Given the description of an element on the screen output the (x, y) to click on. 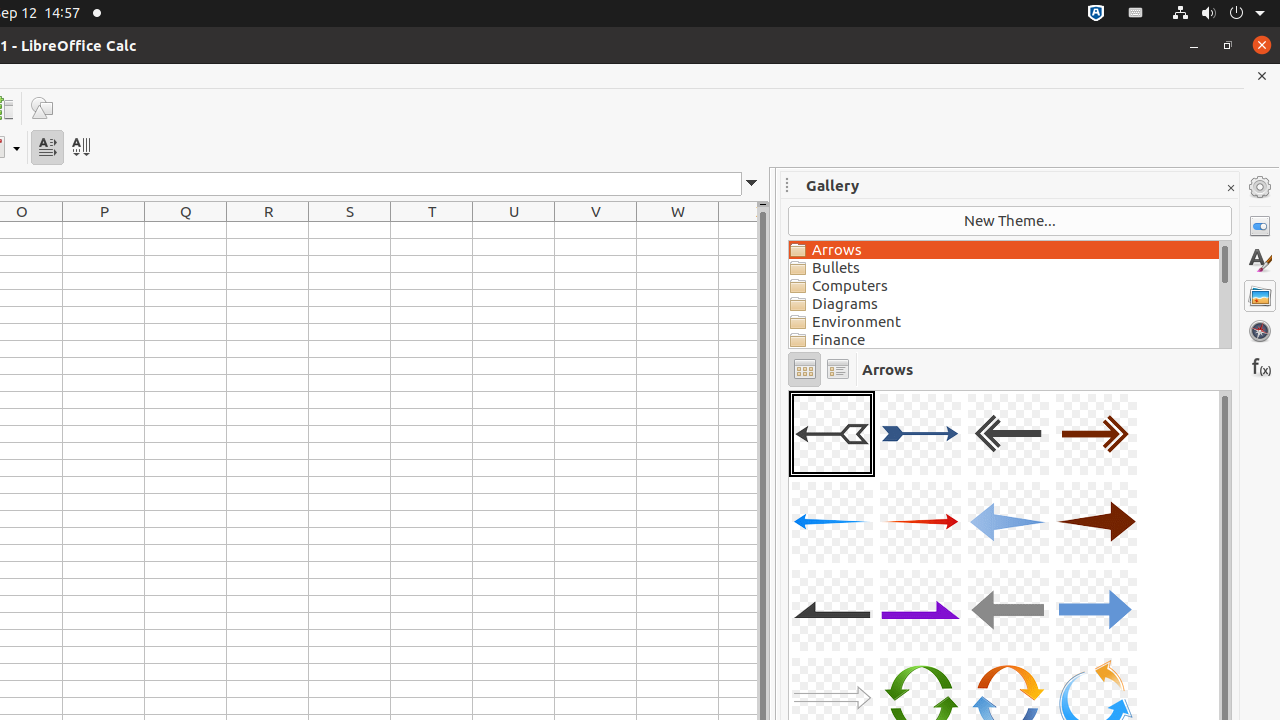
A02-Arrow-DarkBlue-Right Element type: list-item (920, 433)
System Element type: menu (1218, 13)
Properties Element type: radio-button (1260, 226)
Arrows Element type: list-item (1004, 249)
